Given the description of an element on the screen output the (x, y) to click on. 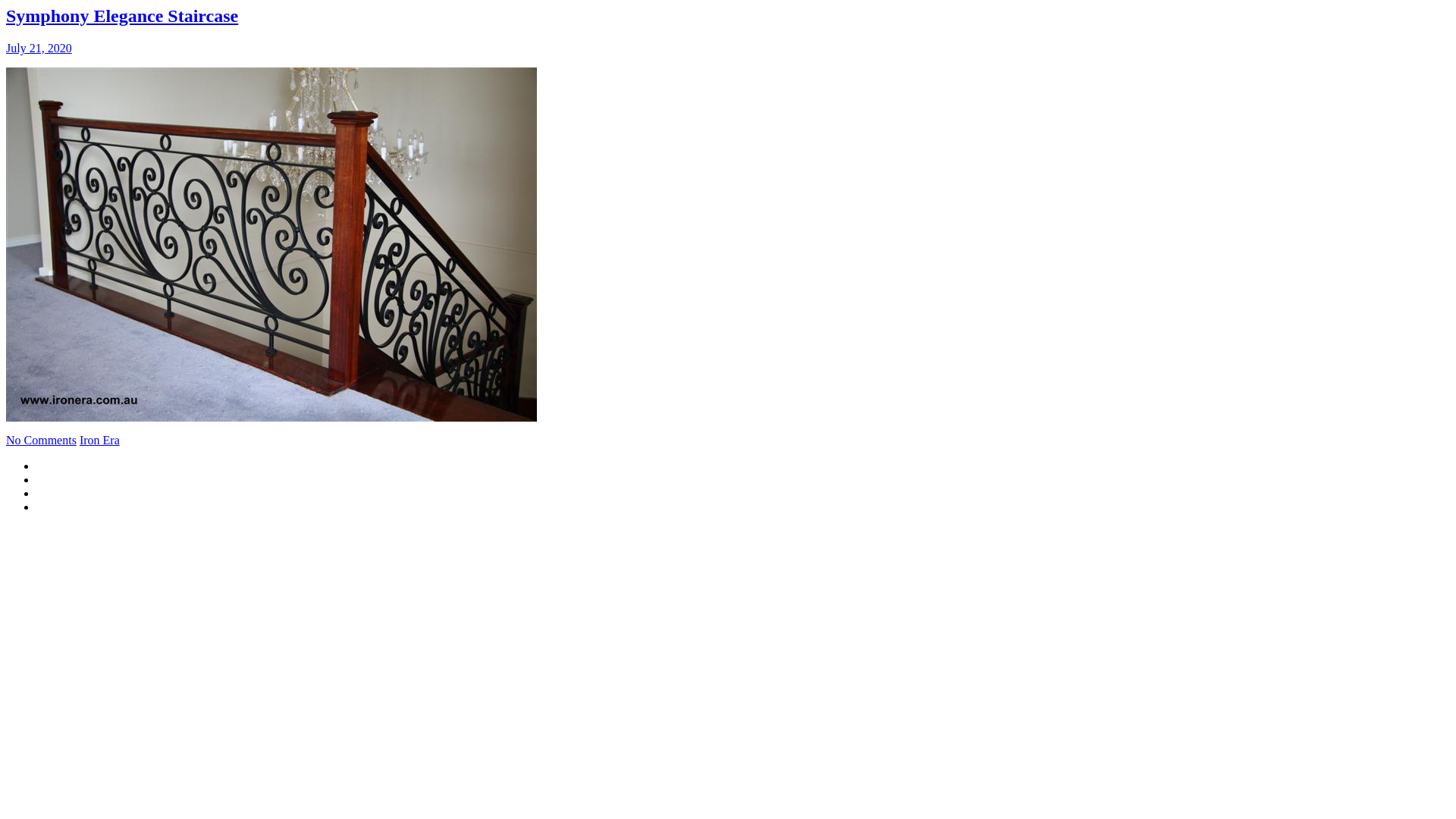
Iron Era Element type: text (99, 439)
Symphony Elegance Staircase Element type: text (122, 15)
No Comments Element type: text (41, 439)
July 21, 2020 Element type: text (39, 47)
